Given the description of an element on the screen output the (x, y) to click on. 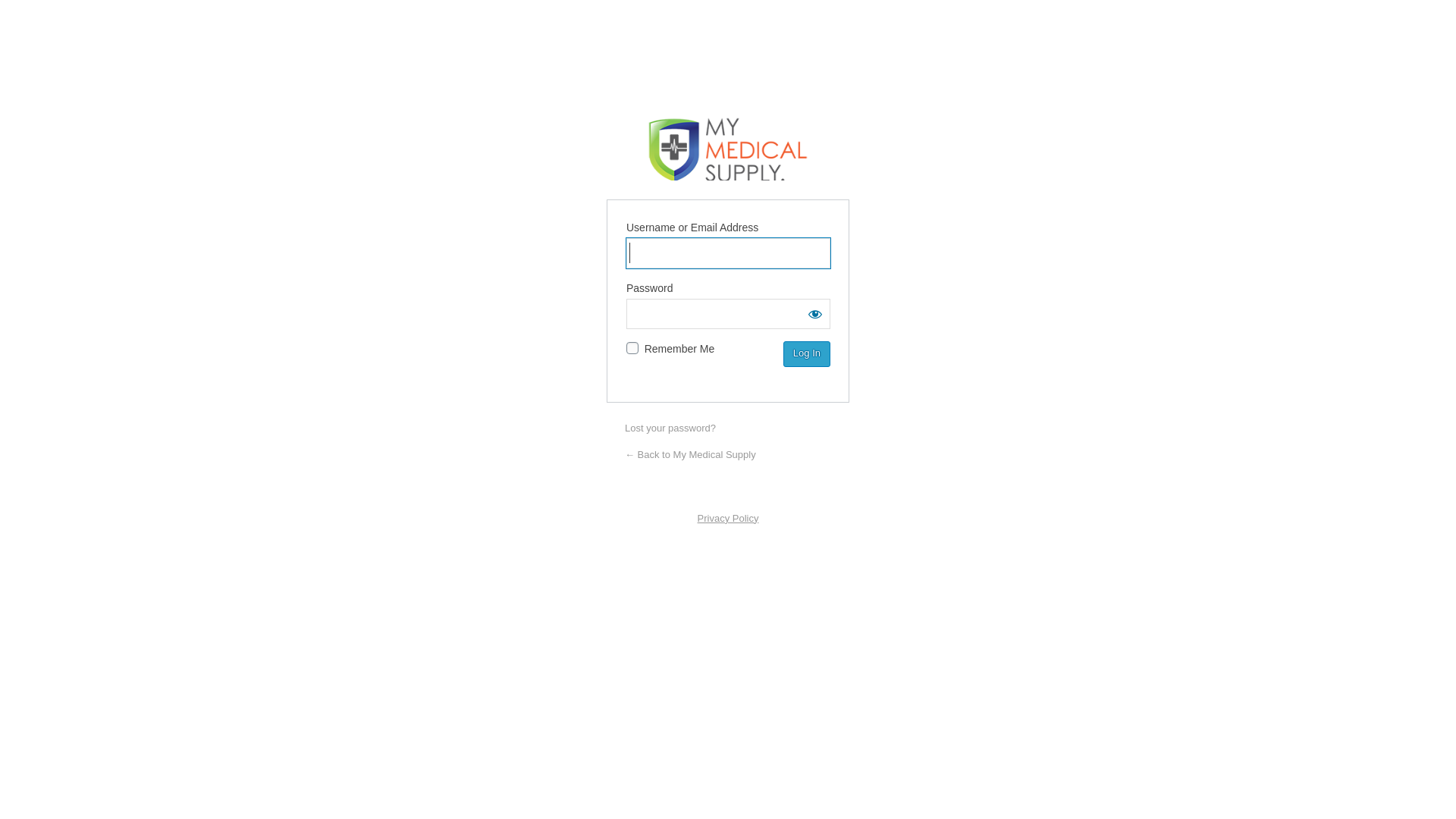
My Medical Supply Element type: text (727, 148)
Lost your password? Element type: text (669, 427)
Privacy Policy Element type: text (728, 518)
Log In Element type: text (806, 354)
